Given the description of an element on the screen output the (x, y) to click on. 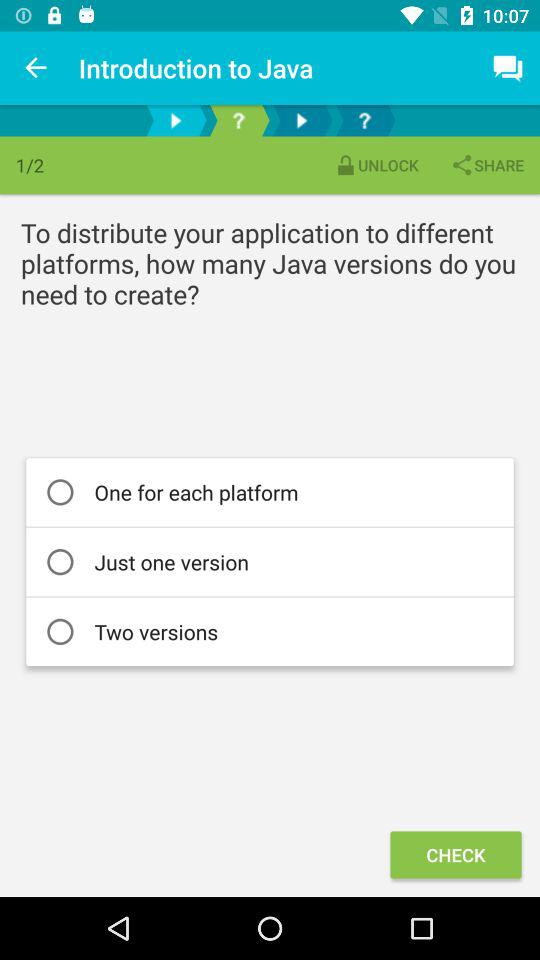
press icon above share icon (508, 67)
